Given the description of an element on the screen output the (x, y) to click on. 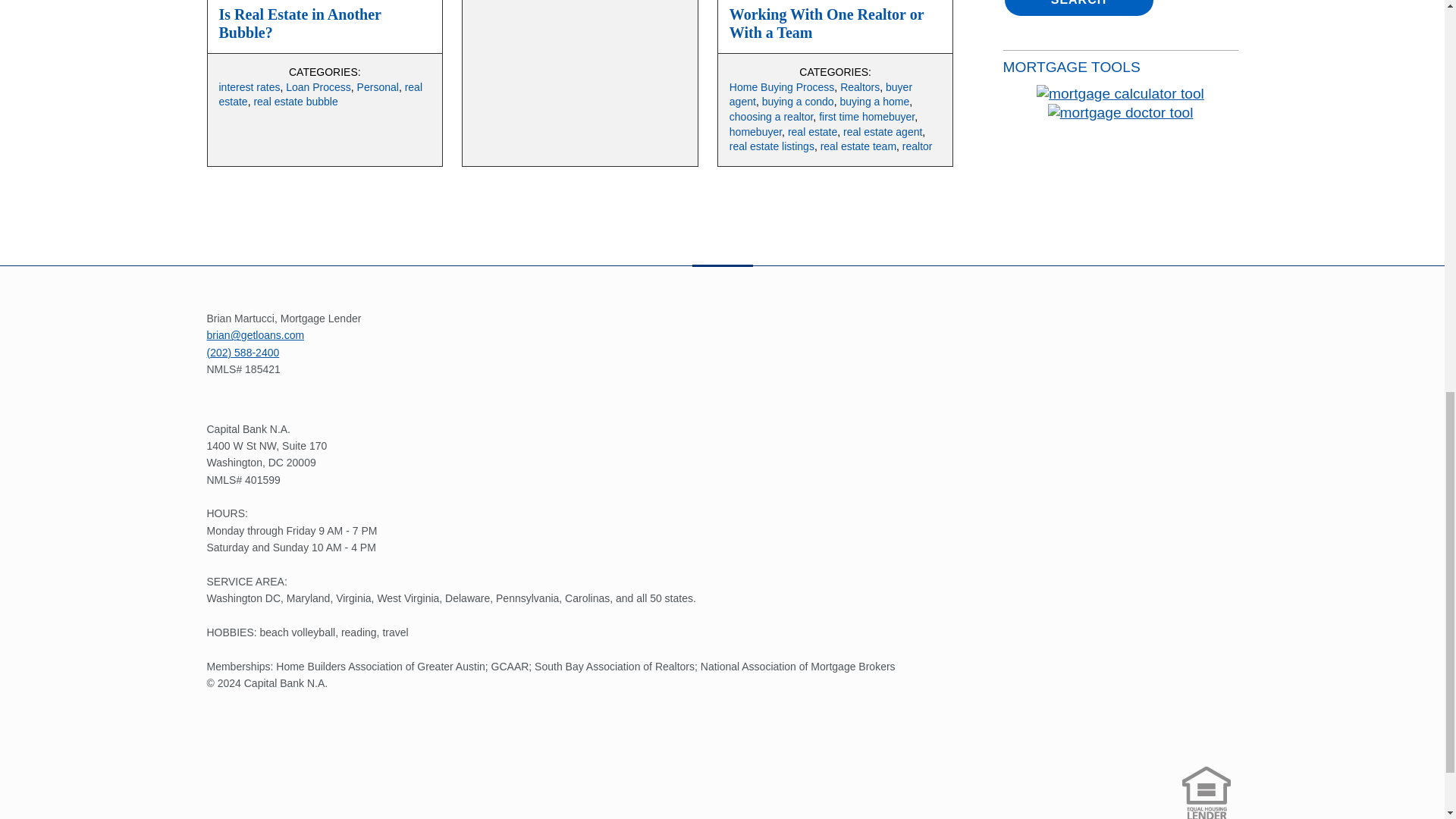
Permanent Link to Working With One Realtor or With a Team (826, 22)
Search (1078, 8)
Permanent Link to Is Real Estate in Another Bubble? (299, 22)
